Given the description of an element on the screen output the (x, y) to click on. 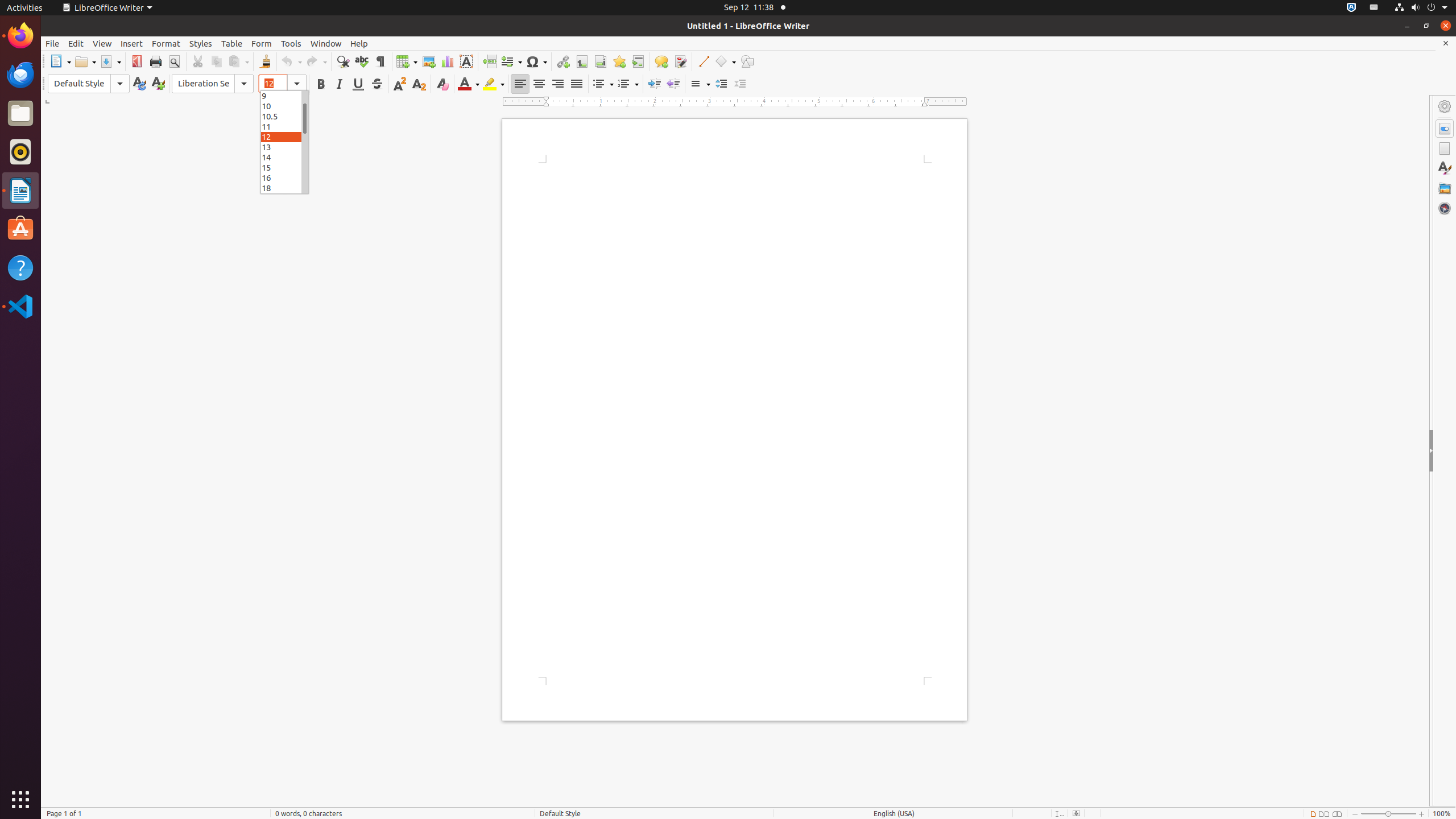
Line Spacing Element type: push-button (699, 83)
13 Element type: list-item (284, 146)
Help Element type: push-button (20, 267)
11 Element type: list-item (284, 126)
Center Element type: toggle-button (538, 83)
